Given the description of an element on the screen output the (x, y) to click on. 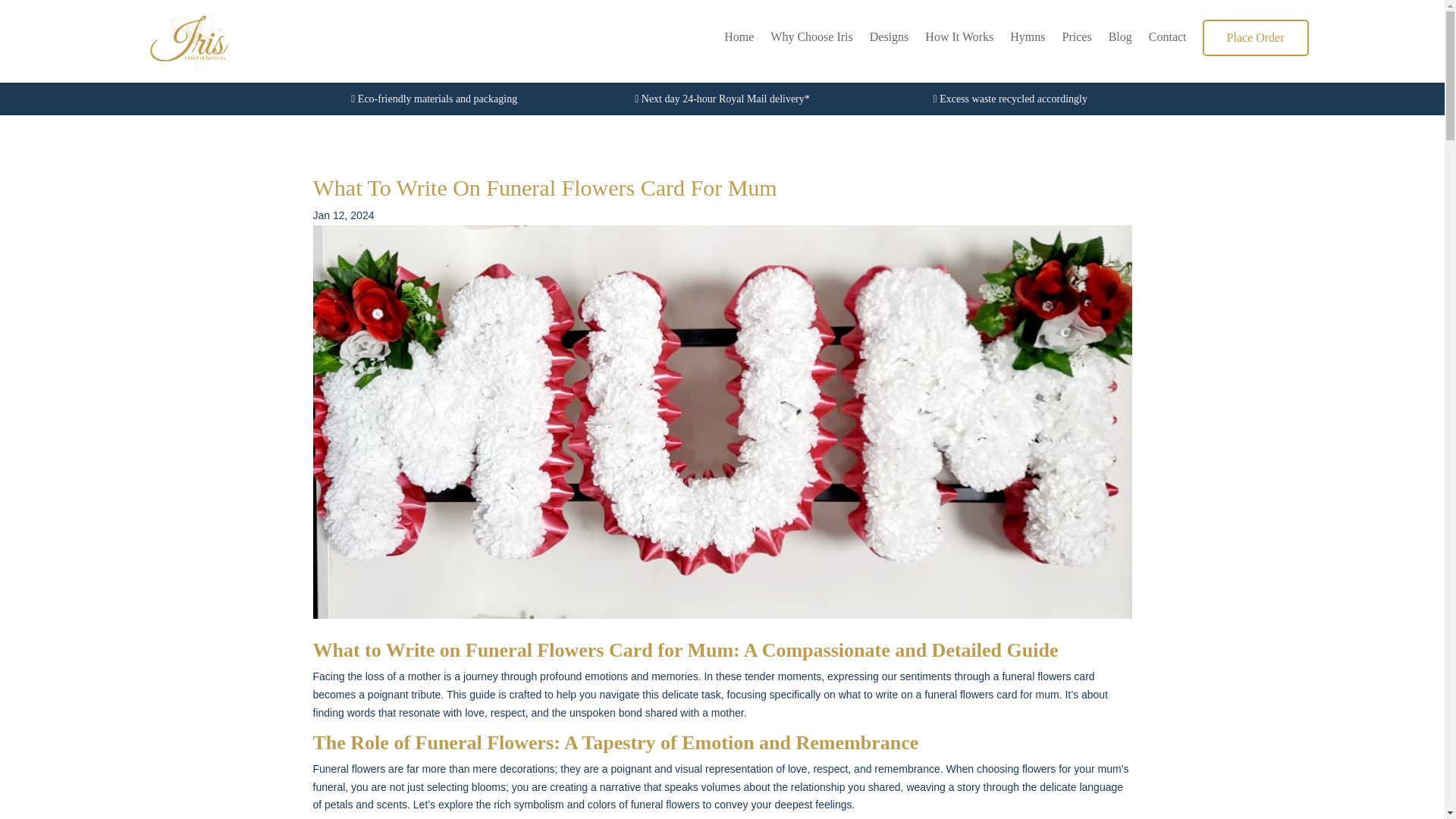
Designs (888, 43)
Prices (1077, 43)
Contact (1167, 43)
Place Order (1255, 37)
Hymns (1027, 43)
Blog (1120, 43)
How It Works (958, 43)
Home (738, 43)
Why Choose Iris (810, 43)
